Given the description of an element on the screen output the (x, y) to click on. 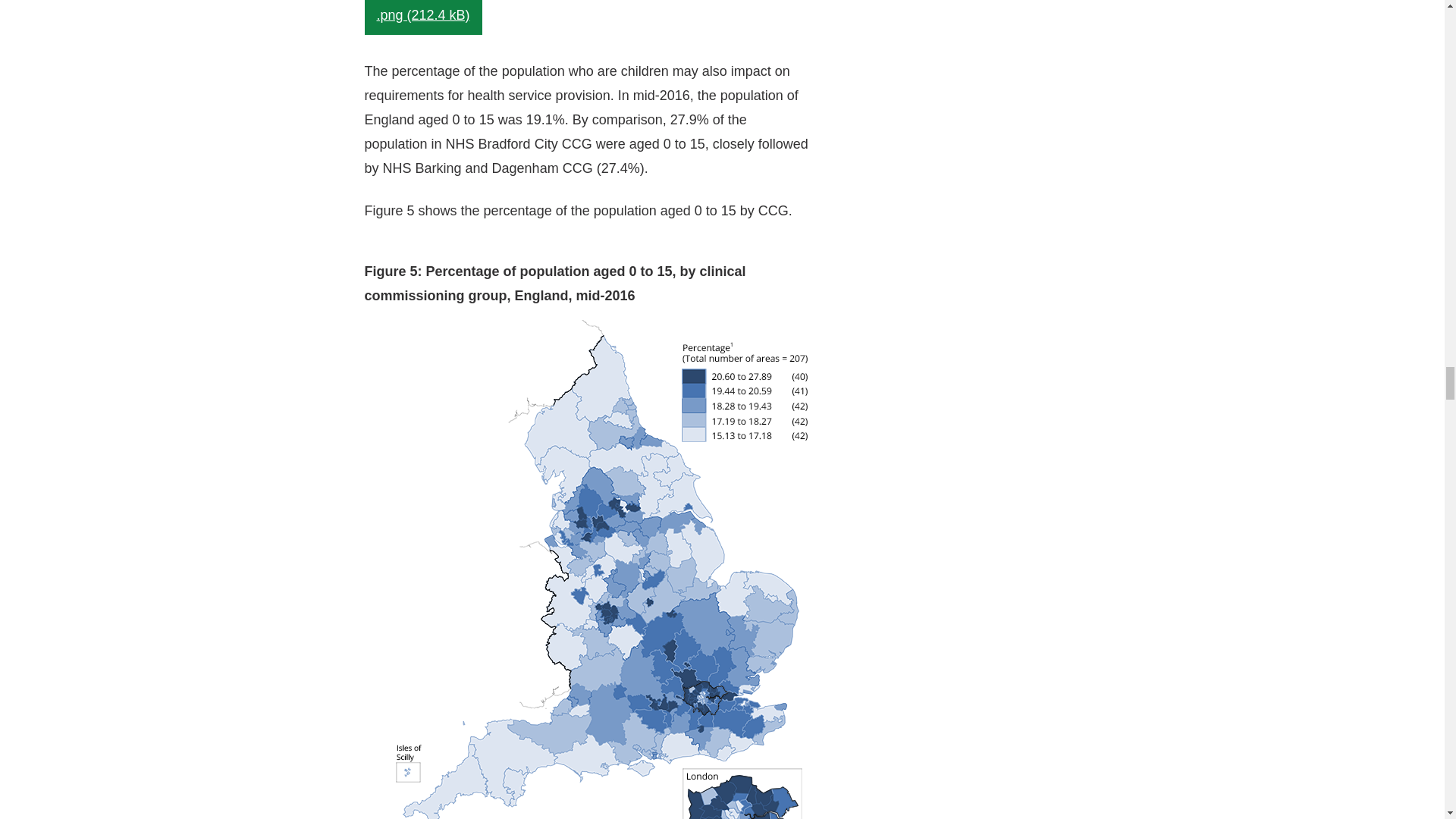
Download as png (422, 17)
